Given the description of an element on the screen output the (x, y) to click on. 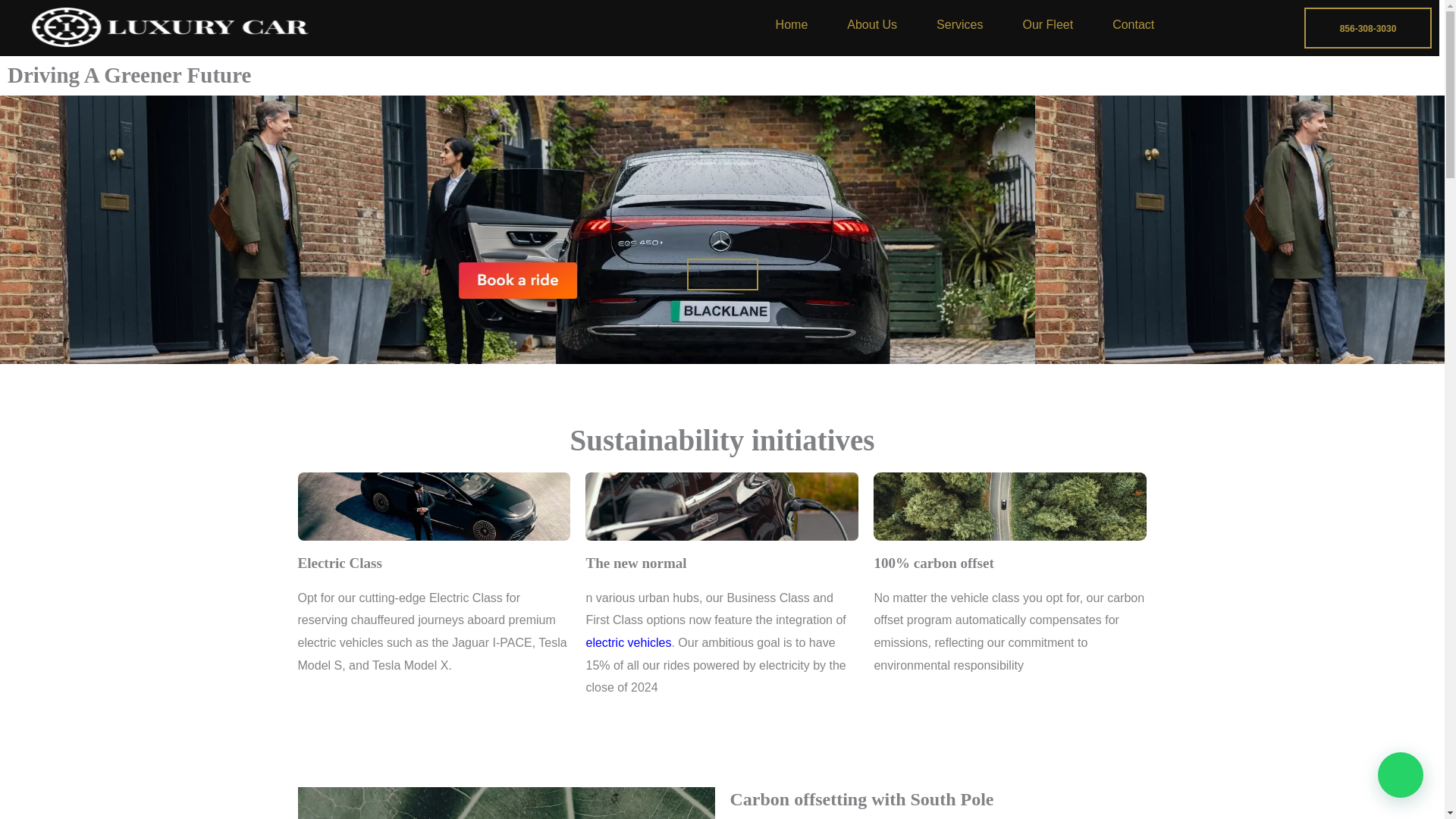
electric vehicles (628, 642)
856-308-3030 (1368, 27)
Home (791, 24)
Contact (1133, 24)
Services (960, 24)
About Us (872, 24)
Our Fleet (1048, 24)
